Given the description of an element on the screen output the (x, y) to click on. 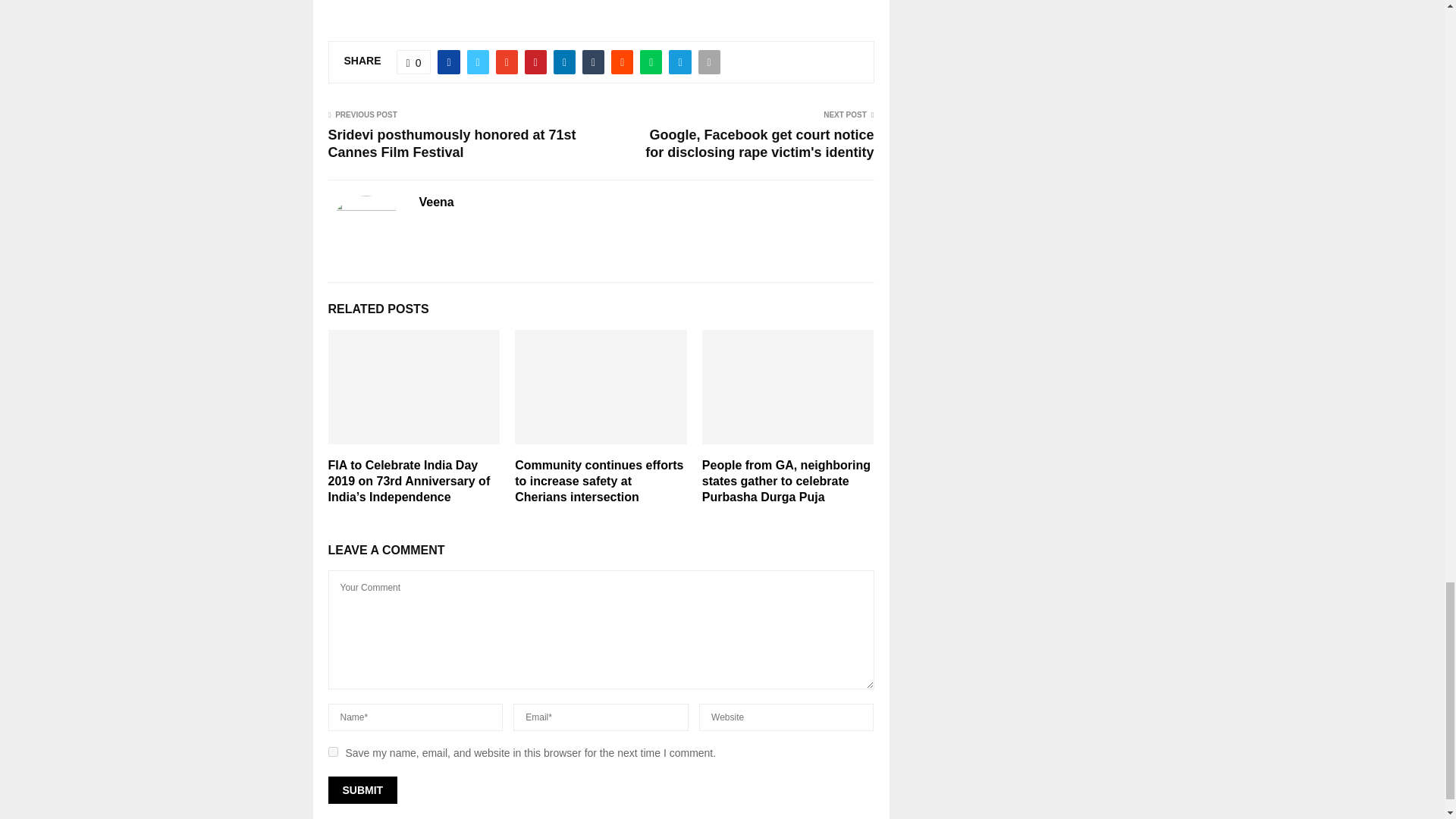
Submit (362, 789)
yes (332, 751)
